Given the description of an element on the screen output the (x, y) to click on. 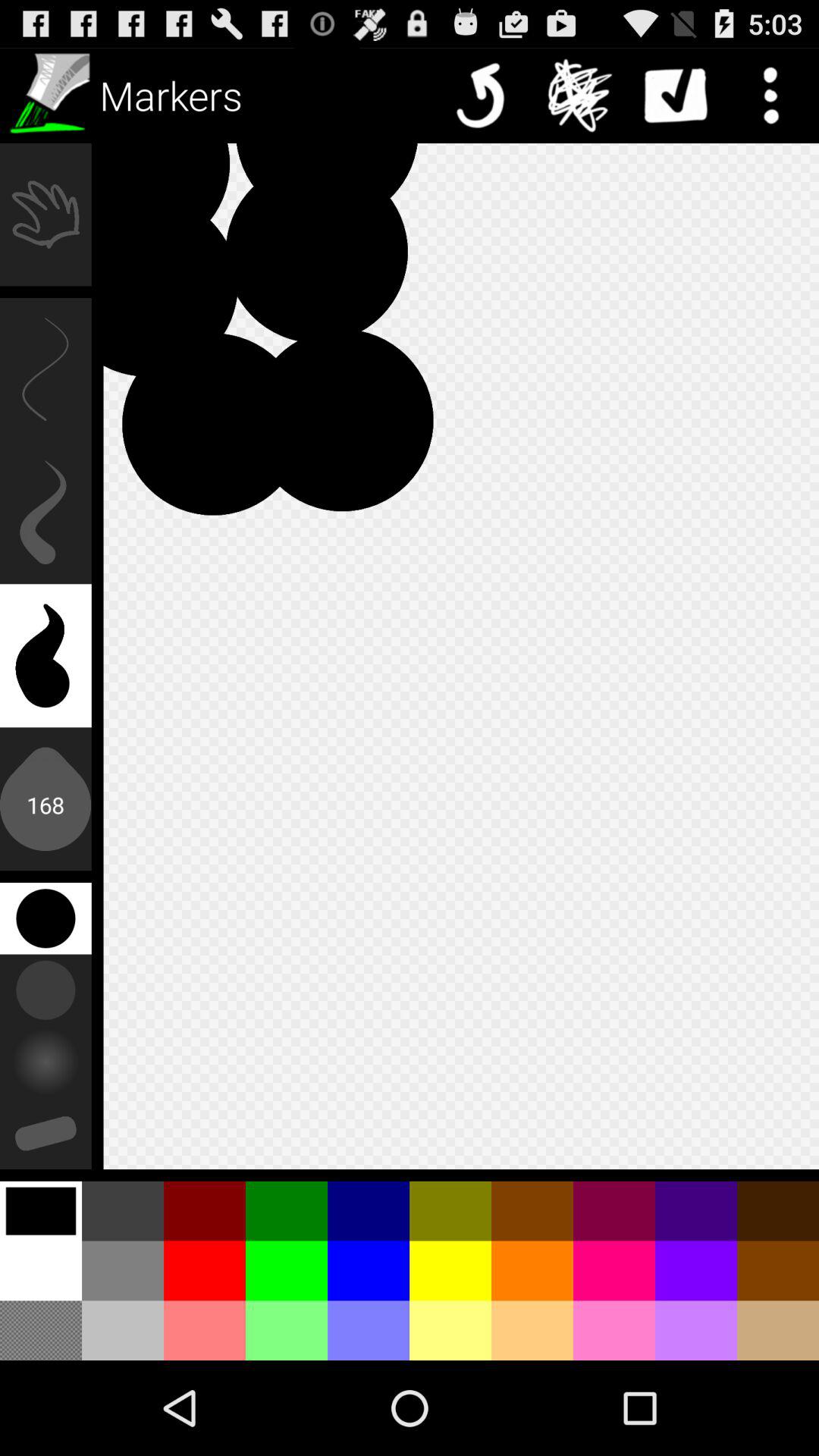
select marker (47, 95)
